Given the description of an element on the screen output the (x, y) to click on. 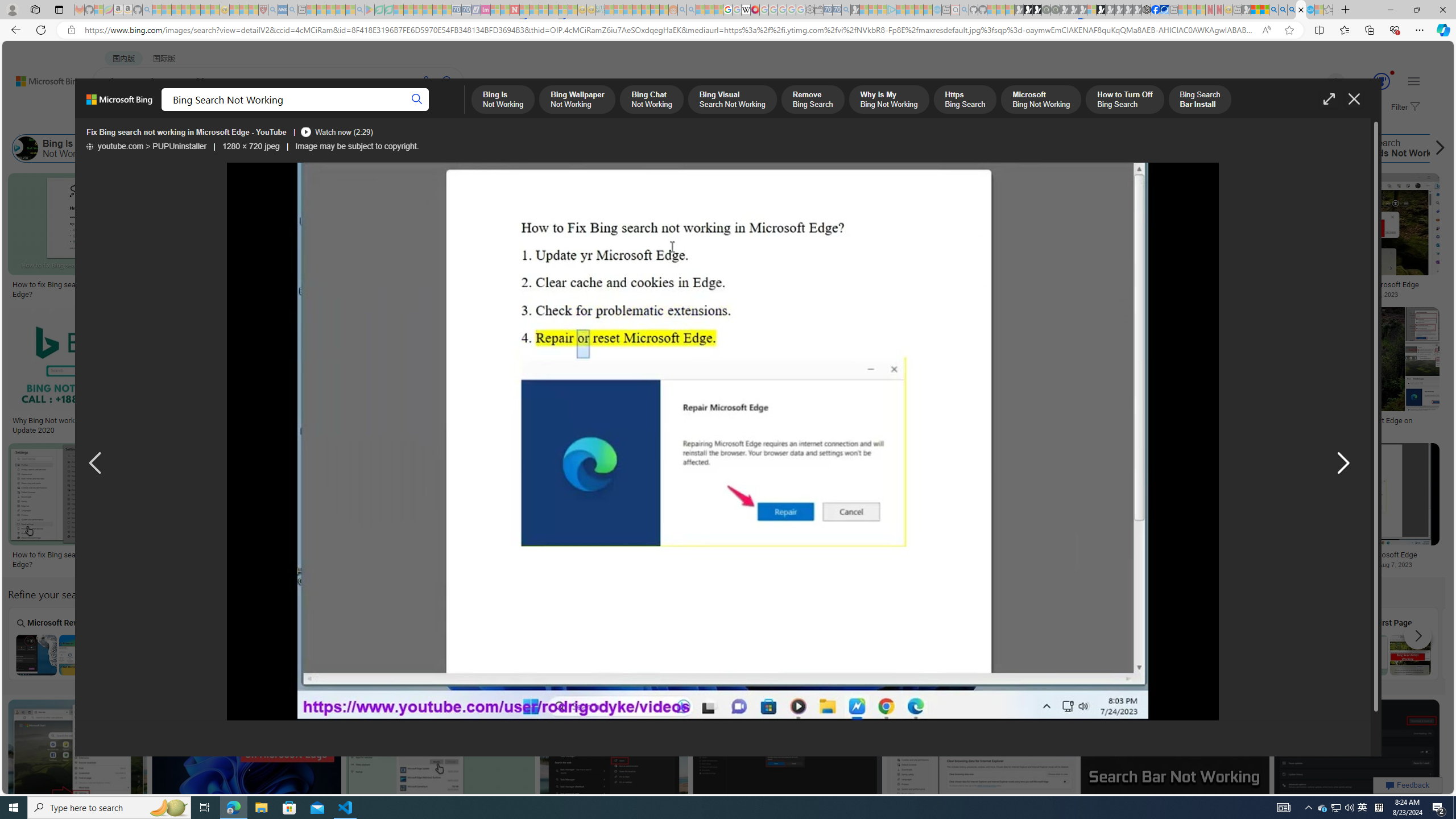
2009 Bing officially replaced Live Search on June 3 - Search (1283, 9)
Microsoft Rewards Bing Search Not Working Microsoft Rewards (57, 643)
Why Bing Not working on windows 10? Update 2020Save (79, 372)
Animation (1392, 72)
Box (262, 643)
Bing Search Rewards Not Working (1334, 148)
Kinda Frugal - MSN - Sleeping (645, 9)
